Given the description of an element on the screen output the (x, y) to click on. 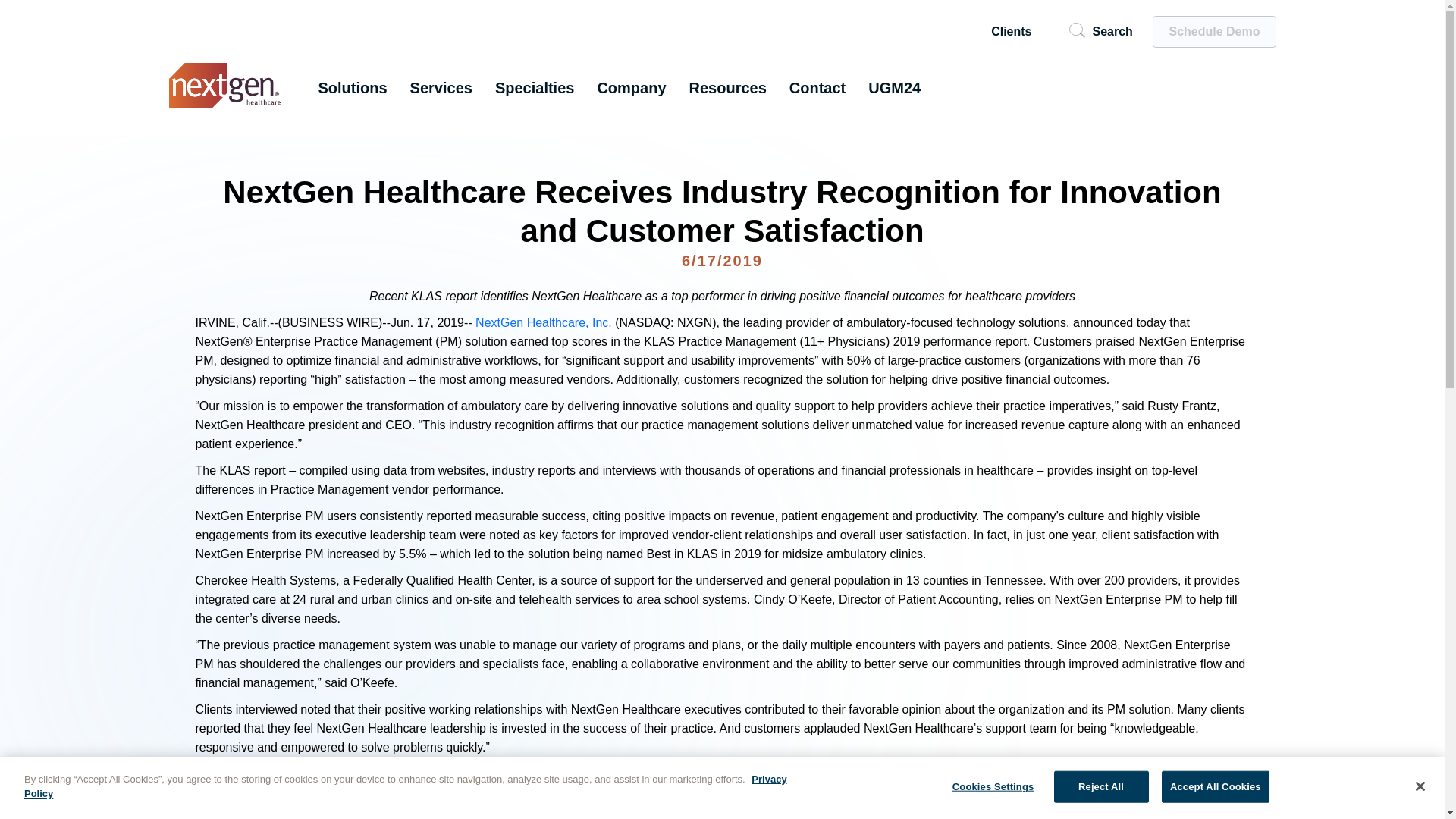
Schedule Demo (1214, 31)
Solutions (352, 88)
